Given the description of an element on the screen output the (x, y) to click on. 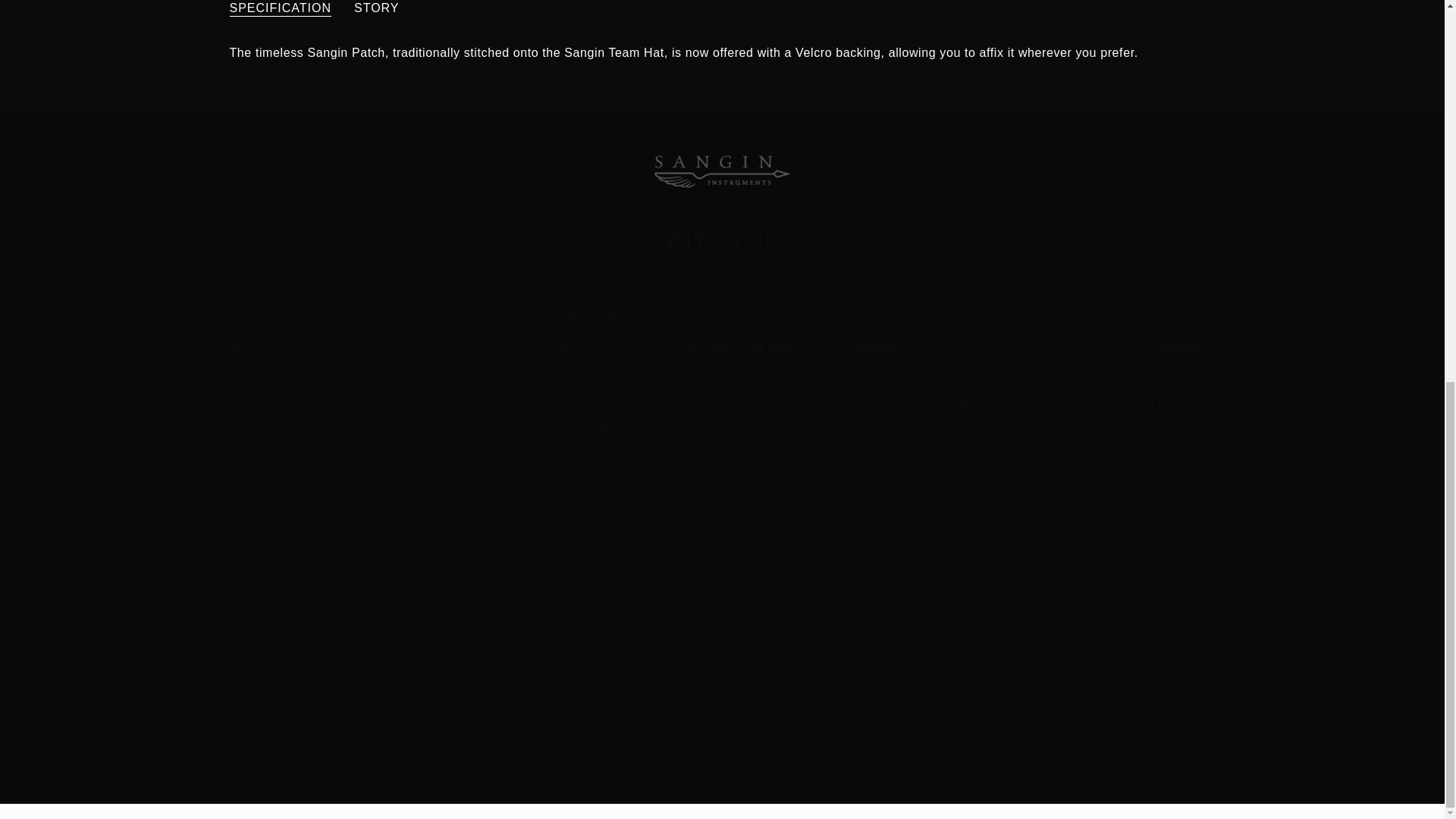
WITH YOU (721, 239)
